Given the description of an element on the screen output the (x, y) to click on. 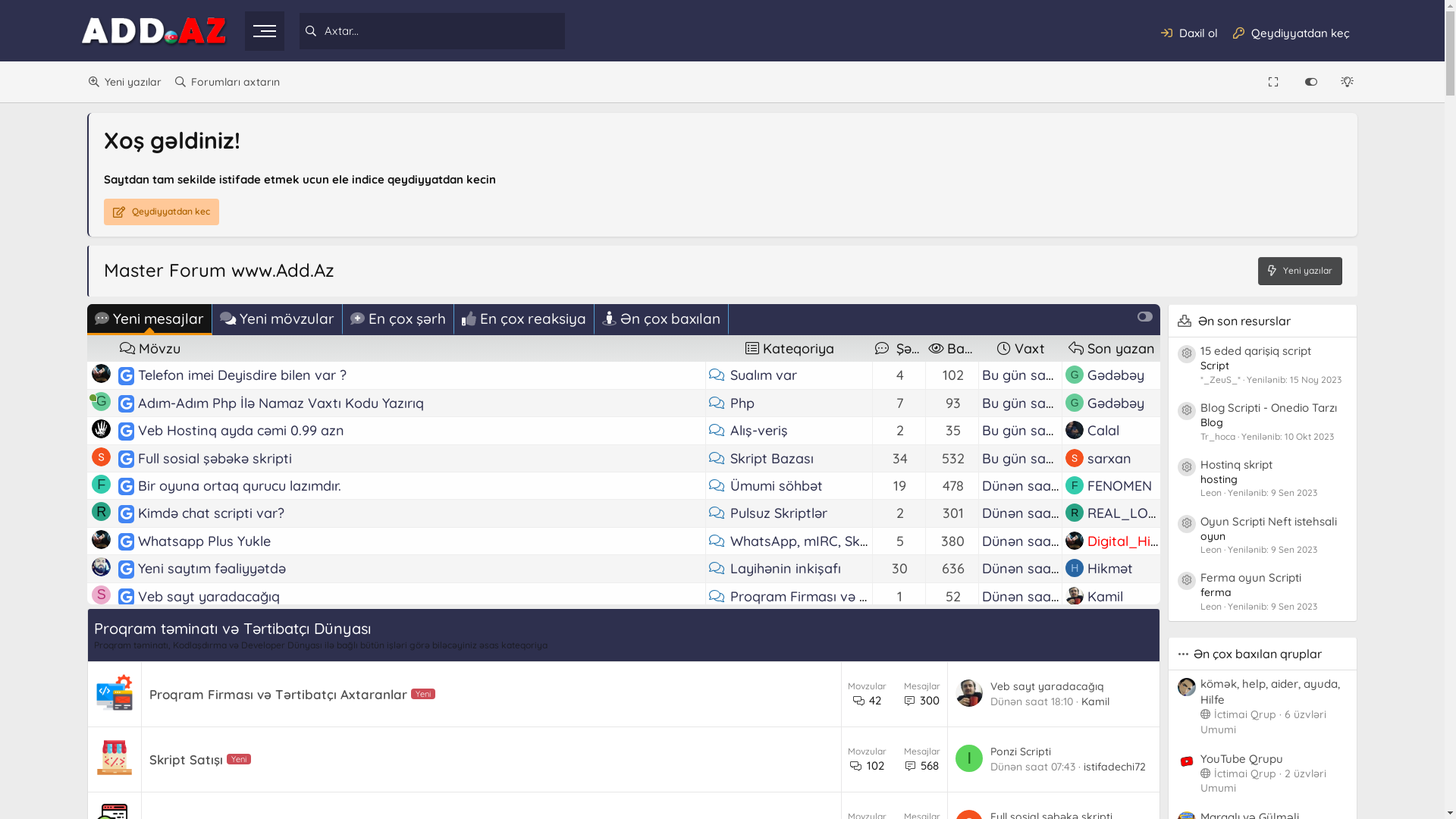
F Element type: text (1074, 485)
G Element type: text (100, 401)
Daxil ol Element type: text (1189, 32)
Whatsapp Plus Yukle Element type: hover (127, 540)
F Element type: text (100, 483)
REAL_LORD Element type: text (1127, 512)
Yeni mesajlar Element type: text (149, 319)
Kamil Element type: text (1105, 596)
Ponzi Scripti Element type: text (177, 650)
Mr_Yeraz Element type: text (1117, 761)
sarxan Element type: text (1109, 458)
Calal Element type: text (1103, 430)
Qeydiyyatdan kec Element type: text (161, 211)
FENOMEN Element type: text (1119, 485)
Ferma oyun Scripti Element type: text (1250, 577)
G Element type: text (1074, 374)
Oyun Scripti Neft istehsali Element type: text (1268, 521)
Telefon imei Deyisdire bilen var ? Element type: hover (127, 374)
Kamil Element type: text (1105, 678)
Digital_History Element type: text (1135, 540)
Leon Element type: text (1103, 706)
istifadechi72 Element type: text (1127, 650)
C Element type: text (100, 759)
FENOMEN Element type: text (1119, 623)
Ponzi Scripti Element type: hover (127, 650)
G Element type: text (100, 787)
R Element type: text (100, 511)
I Element type: text (1074, 650)
10 illik domen satilir (skript ile birkilde) Element type: hover (127, 706)
WhatsApp, mIRC, Skype, ICQ Element type: text (821, 540)
istifadechi72 Element type: text (1114, 766)
Telefon imei Deyisdire bilen var ? Element type: text (242, 374)
I Element type: text (100, 732)
Metinlerin translate olunmasi. Element type: hover (127, 788)
Hostinq skript Element type: text (1236, 464)
Ponzi Scripti Element type: text (1020, 751)
G Element type: text (100, 677)
S Element type: text (100, 594)
YouTube Qrupu Element type: text (1241, 758)
Kamil Element type: text (1095, 701)
F Element type: text (1074, 623)
R Element type: text (1074, 512)
E Element type: text (100, 704)
Whatsapp Plus Yukle Element type: text (204, 540)
Night Mode Element type: hover (1348, 81)
I Element type: text (968, 757)
C Element type: text (100, 621)
Umumi Element type: text (1218, 787)
Kamil Element type: text (1105, 788)
Umumi Element type: text (1218, 729)
I Element type: text (1074, 733)
10 illik domen satilir (skript ile birkilde) Element type: text (259, 706)
Metinlerin translate olunmasi. Element type: text (232, 788)
H Element type: text (1074, 567)
I Element type: text (100, 649)
istifadechi72 Element type: text (1127, 734)
Php Element type: text (742, 402)
G Element type: text (1074, 402)
